Given the description of an element on the screen output the (x, y) to click on. 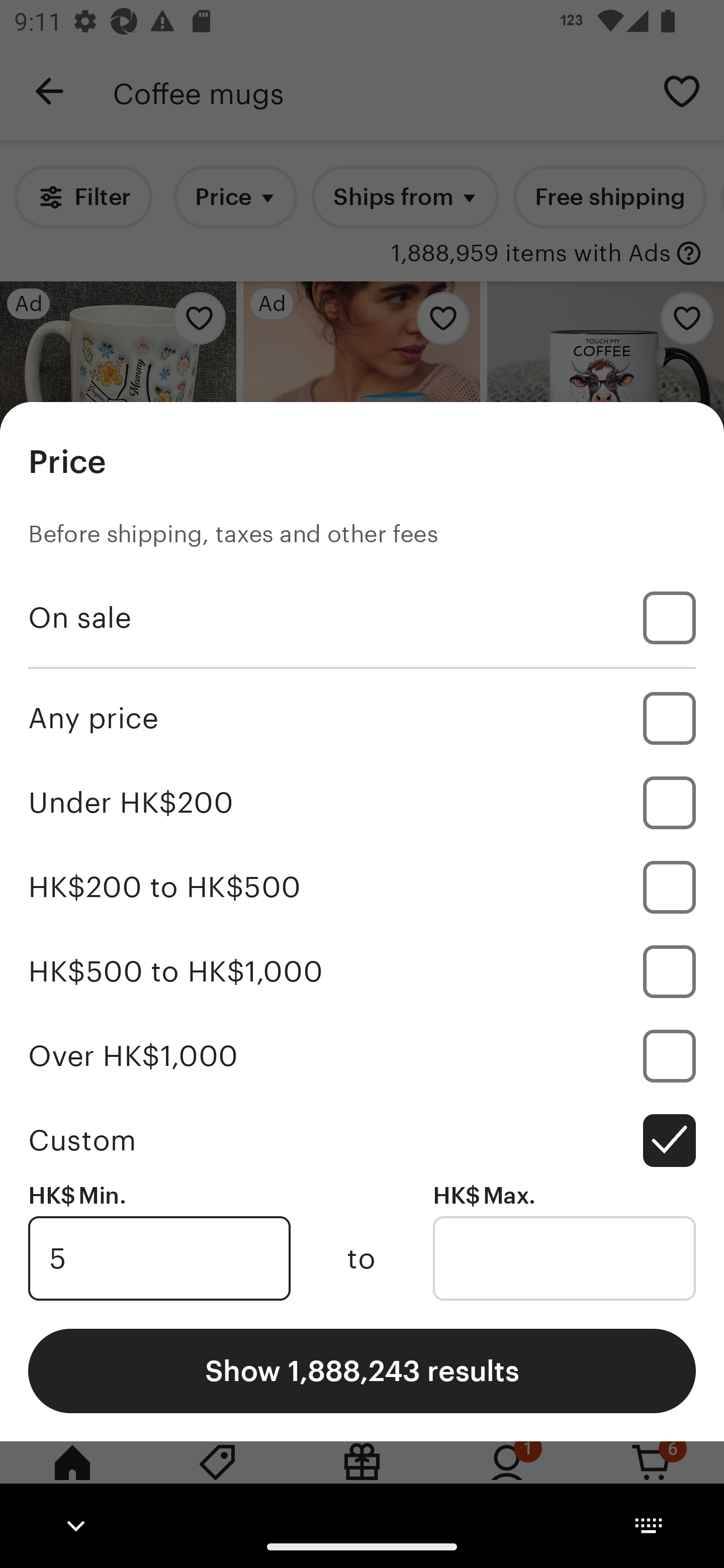
On sale (362, 617)
Any price (362, 717)
Under HK$200 (362, 802)
HK$200 to HK$500 (362, 887)
HK$500 to HK$1,000 (362, 970)
Over HK$1,000 (362, 1054)
Custom (362, 1139)
5 (159, 1257)
Show 1,888,243 results (361, 1370)
